Given the description of an element on the screen output the (x, y) to click on. 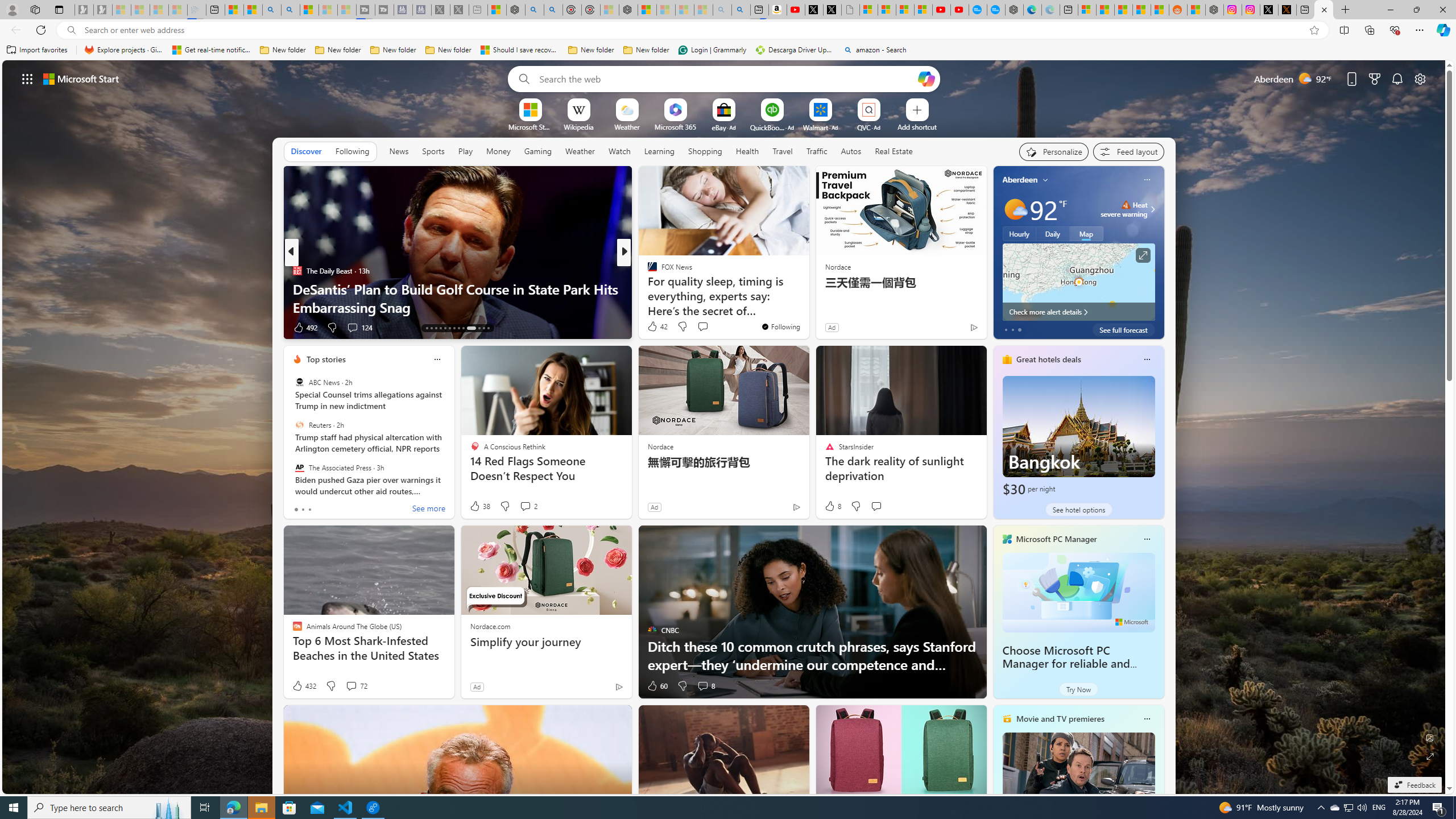
AutomationID: backgroundImagePicture (723, 426)
Dislike (682, 685)
tab-1 (302, 509)
Favorites bar (728, 49)
Microsoft PC Manager (1056, 538)
Nordace - Nordace has arrived Hong Kong (1013, 9)
View comments 2 Comment (525, 505)
